Given the description of an element on the screen output the (x, y) to click on. 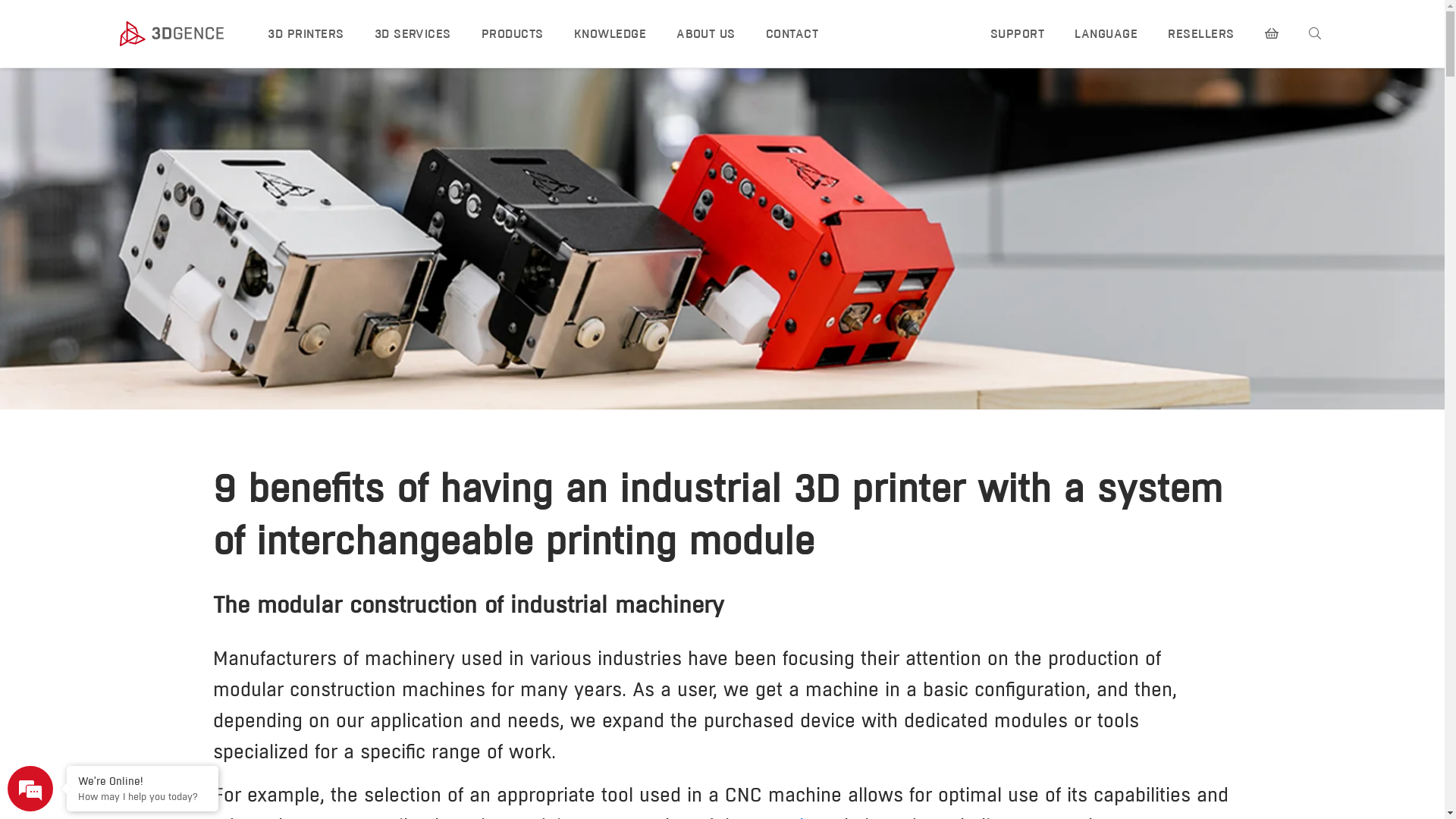
KNOWLEDGE Element type: text (609, 33)
3D PRINTERS Element type: text (305, 33)
PRODUCTS Element type: text (512, 33)
RESELLERS Element type: text (1200, 33)
ABOUT US Element type: text (705, 33)
SUPPORT Element type: text (1017, 33)
3D SERVICES Element type: text (412, 33)
CONTACT Element type: text (792, 33)
LANGUAGE Element type: text (1105, 33)
